Given the description of an element on the screen output the (x, y) to click on. 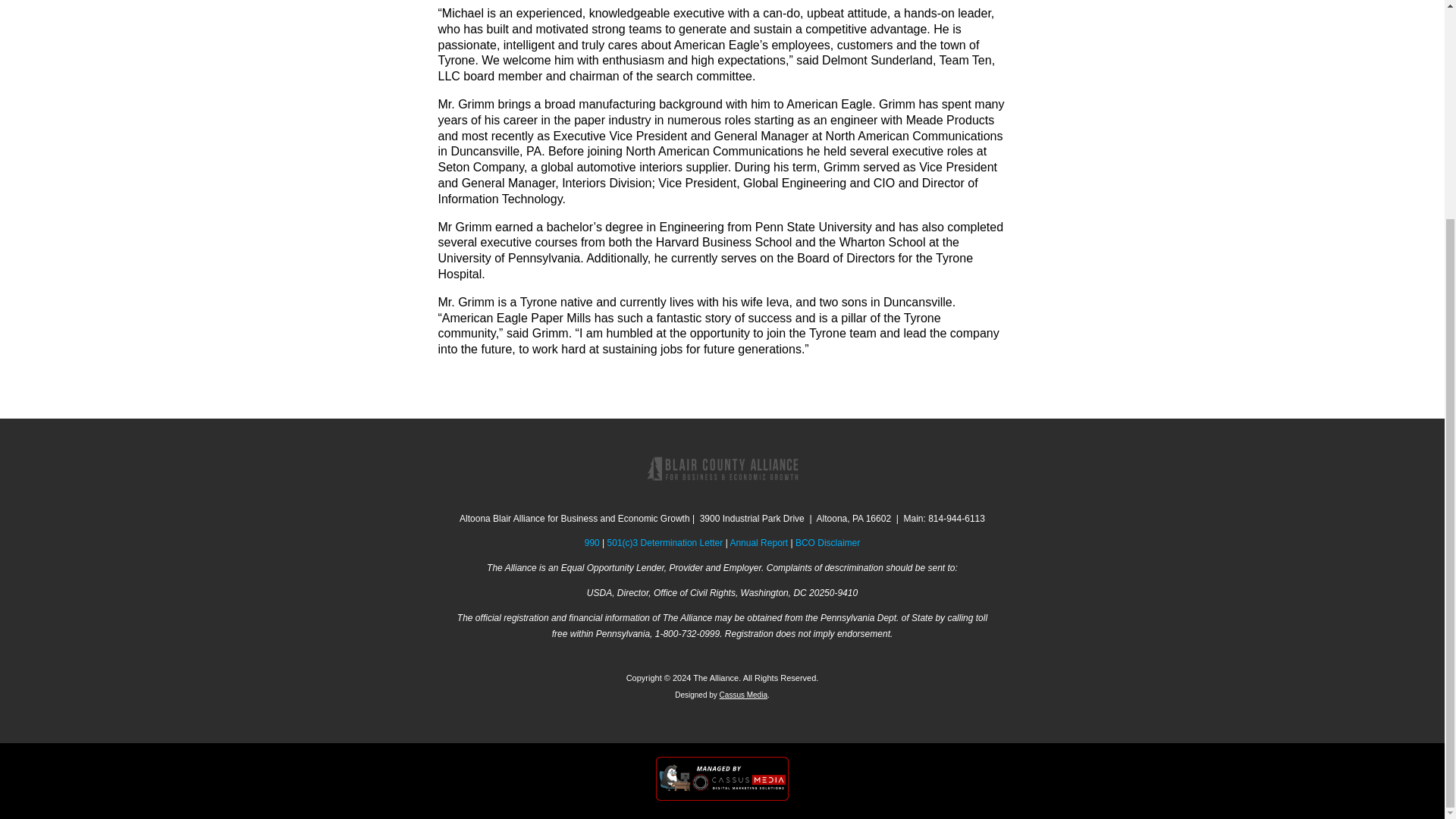
990 (592, 542)
Annual Report (758, 542)
Cassus Media (743, 695)
BCO Disclaimer (827, 542)
